Given the description of an element on the screen output the (x, y) to click on. 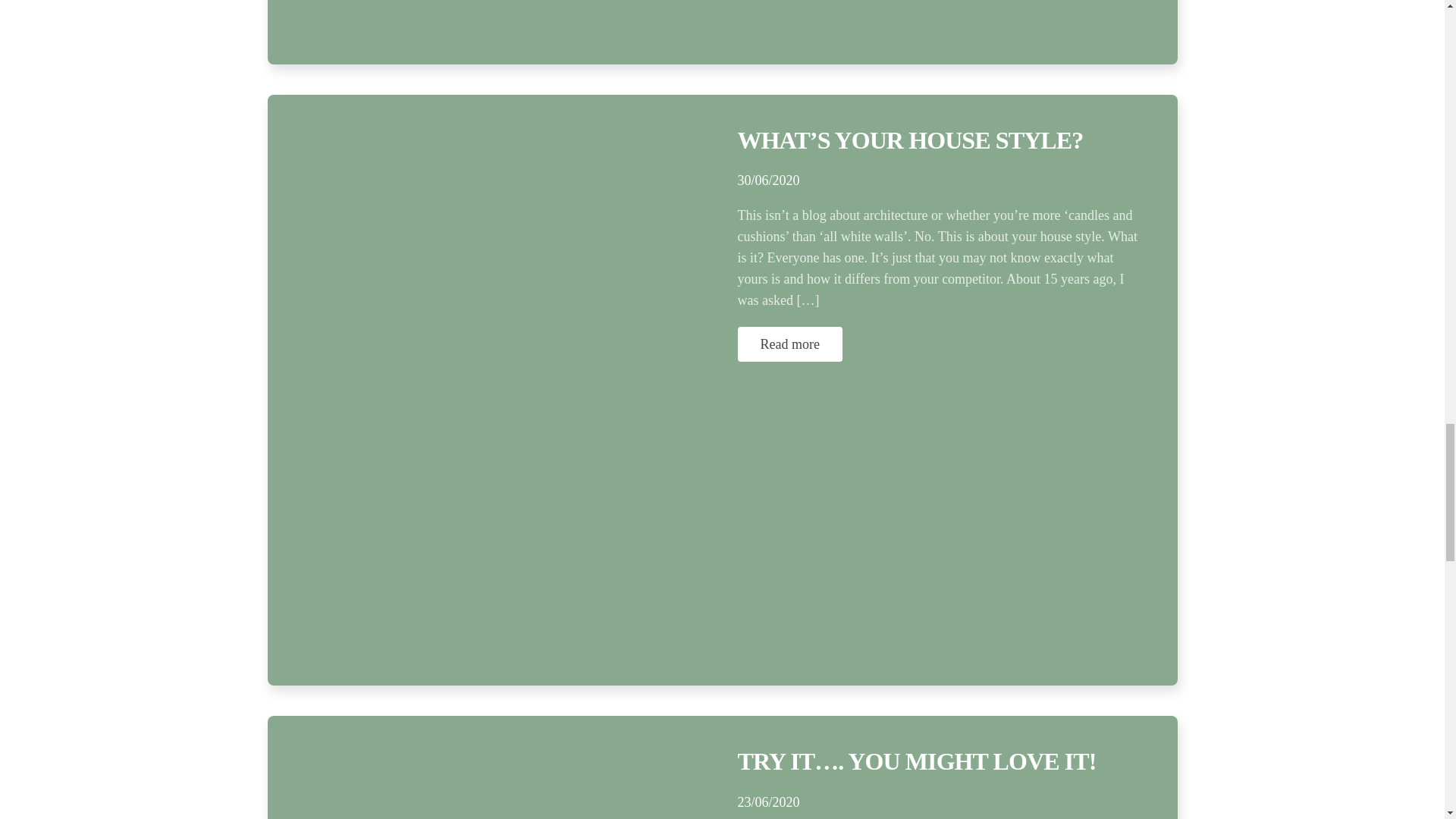
Read more (788, 343)
